Given the description of an element on the screen output the (x, y) to click on. 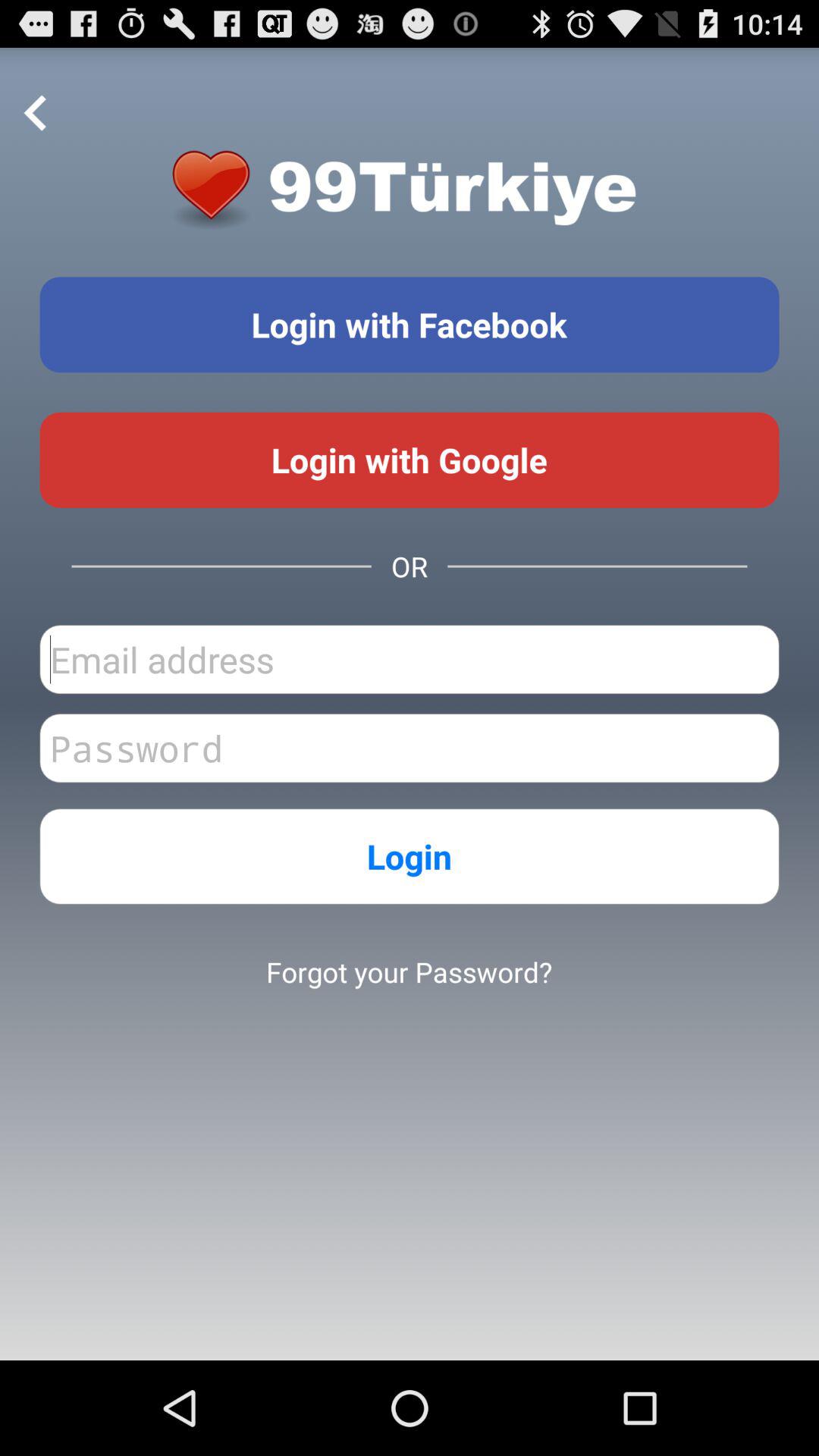
login using facebook (409, 324)
